Given the description of an element on the screen output the (x, y) to click on. 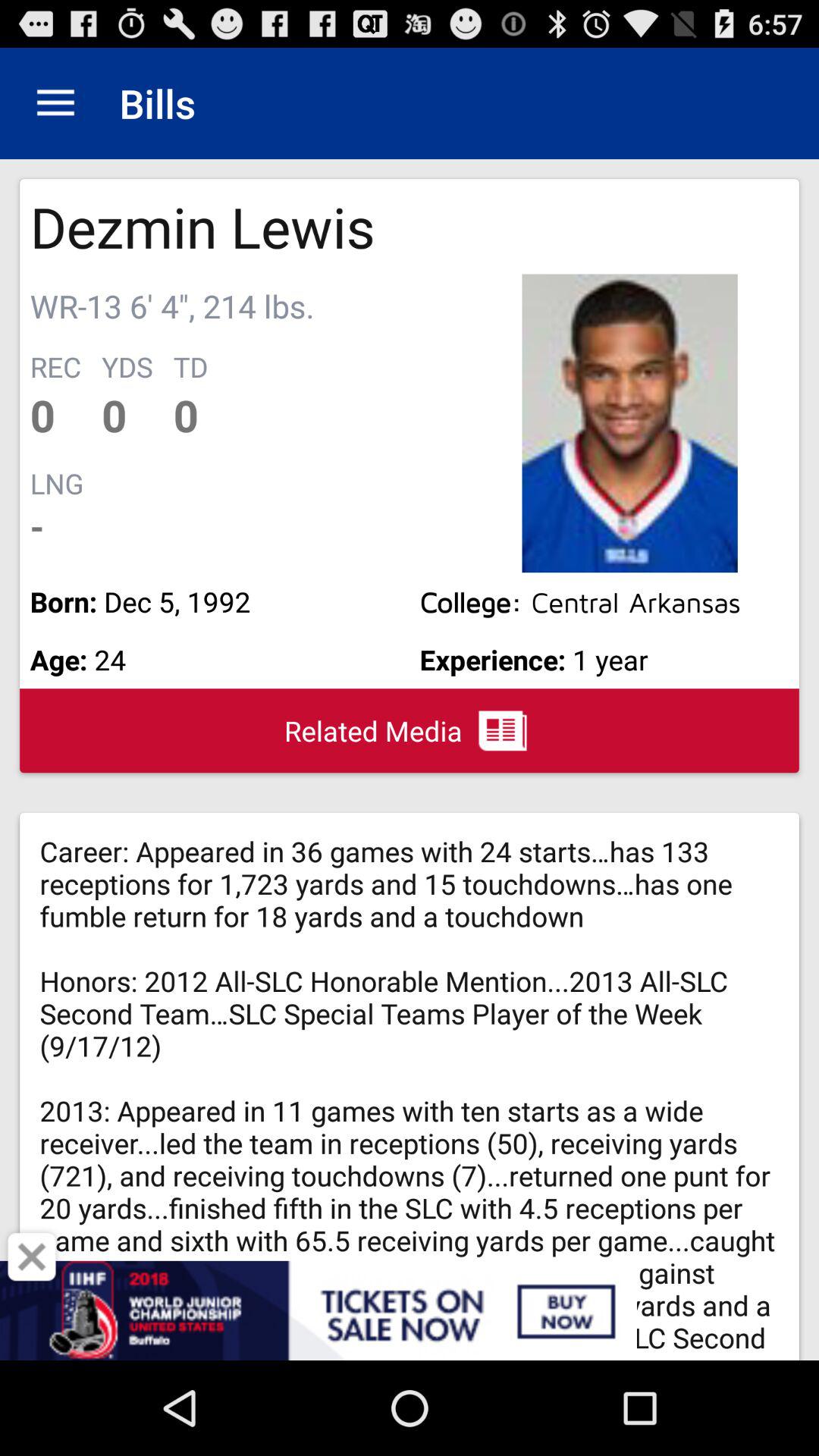
open advertisement (409, 1310)
